Given the description of an element on the screen output the (x, y) to click on. 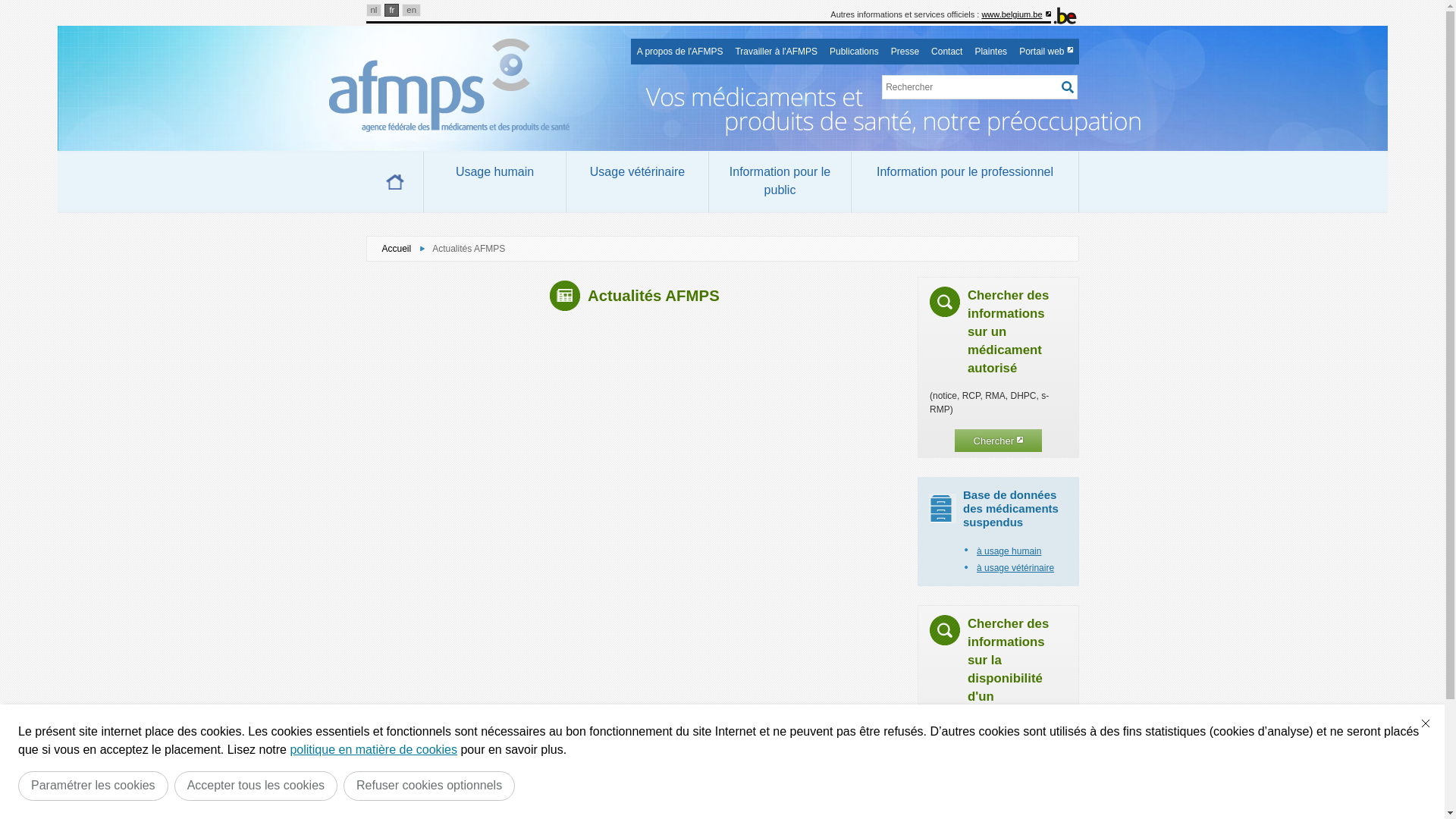
(link is external) Element type: hover (1019, 439)
Portail web
(link is external) Element type: text (1045, 51)
Accepter tous les cookies Element type: text (255, 785)
(link is external) Element type: hover (1047, 14)
Information pour le professionnel Element type: text (964, 182)
Contact Element type: text (946, 51)
Plaintes Element type: text (990, 51)
Presse Element type: text (905, 51)
A propos de l'AFMPS Element type: text (680, 51)
Aller au contenu principal Element type: text (7, 4)
www.belgium.be
(link is external) Element type: text (1015, 13)
fr Element type: text (391, 9)
Back to the home page Element type: hover (457, 85)
Usage humain Element type: text (494, 182)
Refuser cookies optionnels Element type: text (428, 785)
Apply Element type: text (1066, 87)
Chercher
(link is external) Element type: text (997, 440)
en Element type: text (410, 9)
Information pour le public Element type: text (779, 182)
Home Element type: text (394, 182)
(link is external) Element type: hover (1070, 50)
Fermer Element type: hover (1425, 723)
nl Element type: text (373, 9)
(link is external) Element type: hover (1026, 796)
Accueil Element type: text (396, 248)
Publications Element type: text (853, 51)
